Given the description of an element on the screen output the (x, y) to click on. 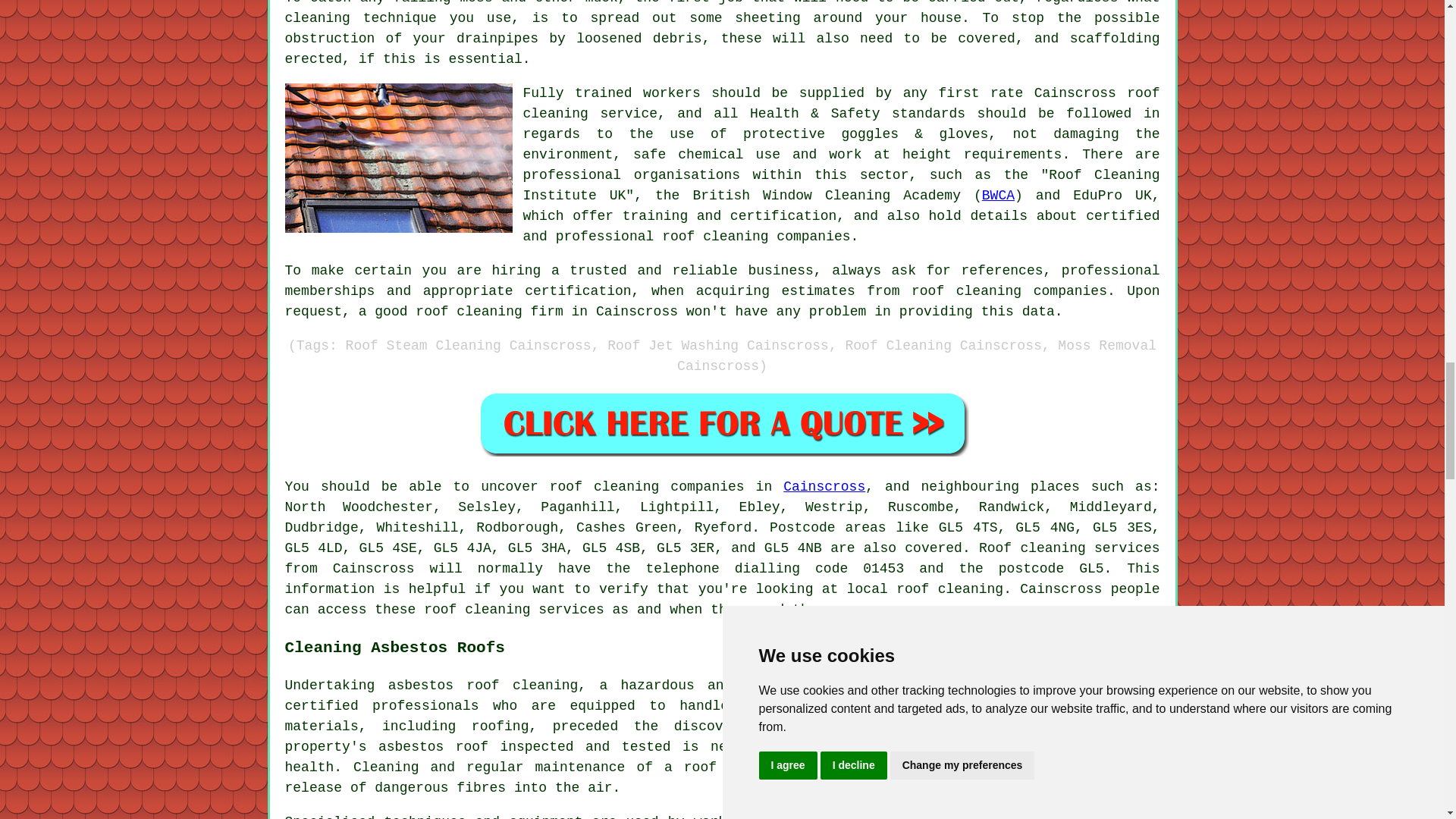
roof cleaning (604, 486)
Book Roof Cleaning Services in Cainscross UK (722, 423)
roof cleaning (949, 589)
roof cleaning (841, 103)
Cleaning a Roof in Cainscross (398, 157)
